Given the description of an element on the screen output the (x, y) to click on. 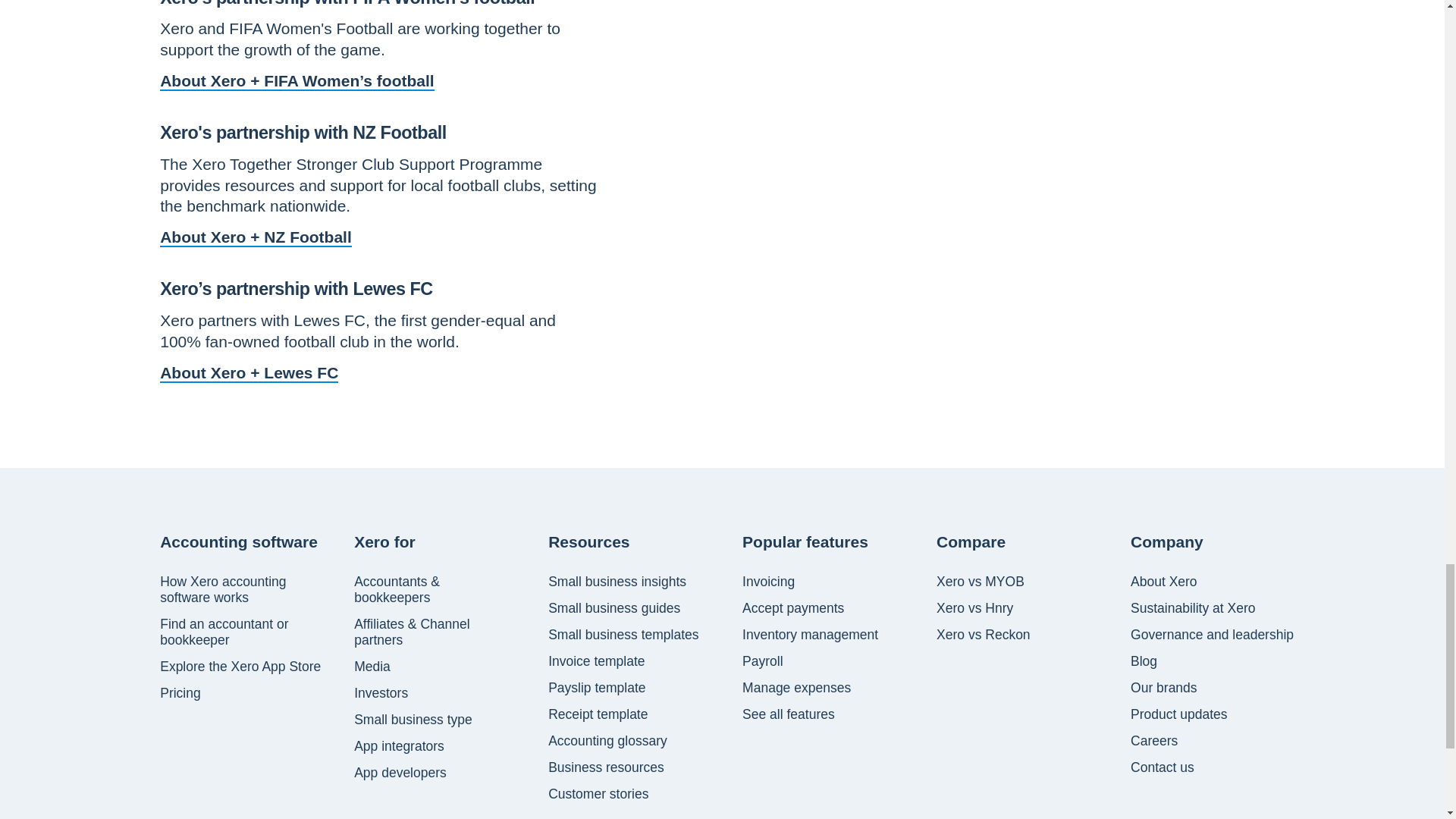
Media (371, 666)
Small business guides (613, 608)
Explore the Xero App Store (240, 666)
Small business templates (623, 634)
Invoice template (596, 661)
Pricing (180, 693)
Small business type (412, 719)
App developers (399, 772)
Find an accountant or bookkeeper (242, 631)
Small business insights (616, 580)
